Given the description of an element on the screen output the (x, y) to click on. 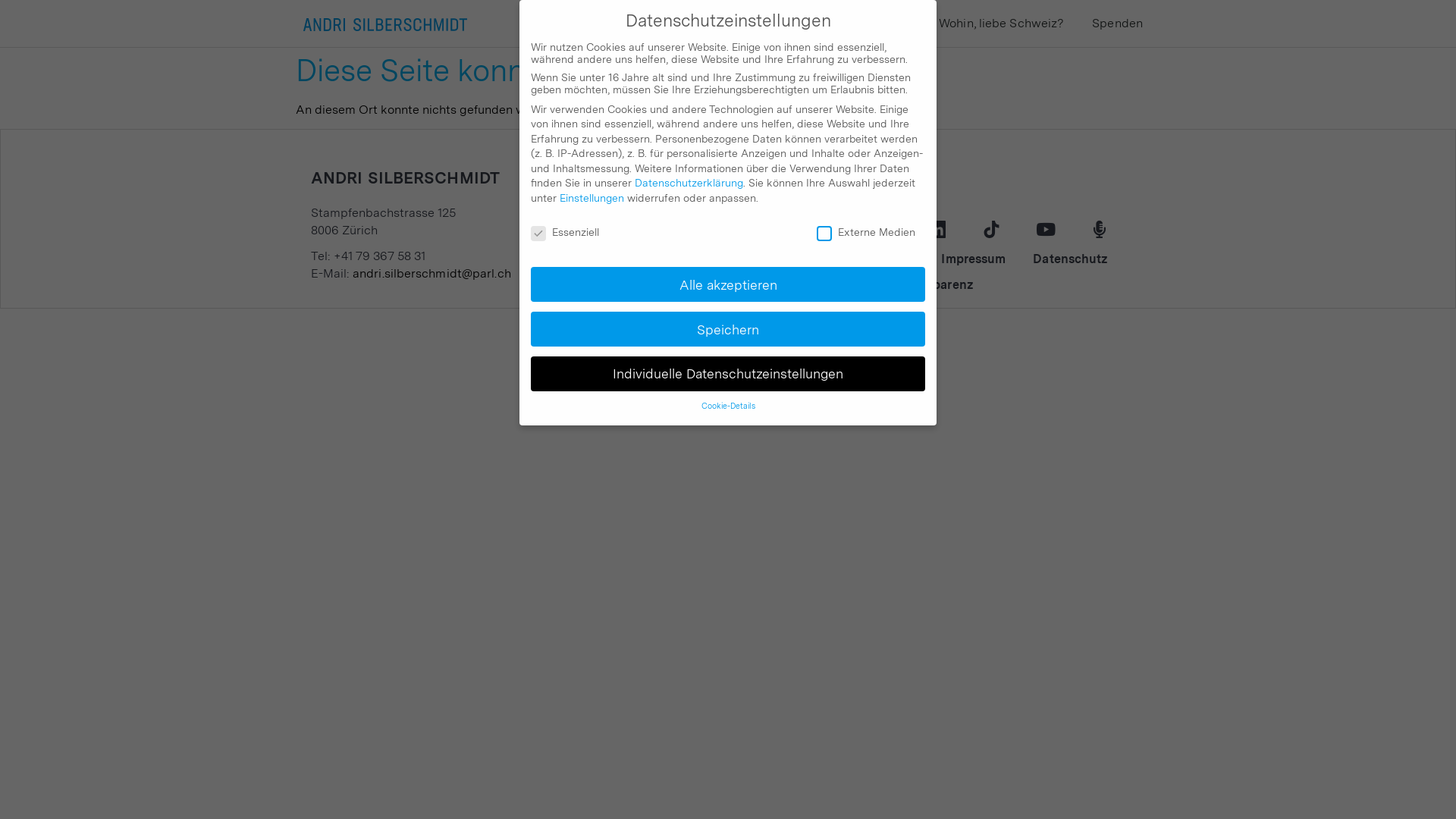
Impressum Element type: text (973, 259)
Speichern Element type: text (727, 328)
andri.silberschmidt@parl.ch Element type: text (431, 273)
Themen Element type: text (888, 23)
Spenden Element type: text (1117, 23)
Individuelle Datenschutzeinstellungen Element type: text (727, 373)
Wohin, liebe Schweiz? Element type: text (1000, 23)
Transparenz Element type: text (937, 285)
Einstellungen Element type: text (591, 197)
Aktuelles Element type: text (708, 23)
cropped-Andri-Silberschmidt-Logo-00AEEF.webp Element type: hover (385, 24)
Datenschutz Element type: text (1070, 259)
PolitUpdates Anmeldung Element type: text (839, 259)
Alle akzeptieren Element type: text (727, 283)
Cookie-Details Element type: text (727, 406)
